Given the description of an element on the screen output the (x, y) to click on. 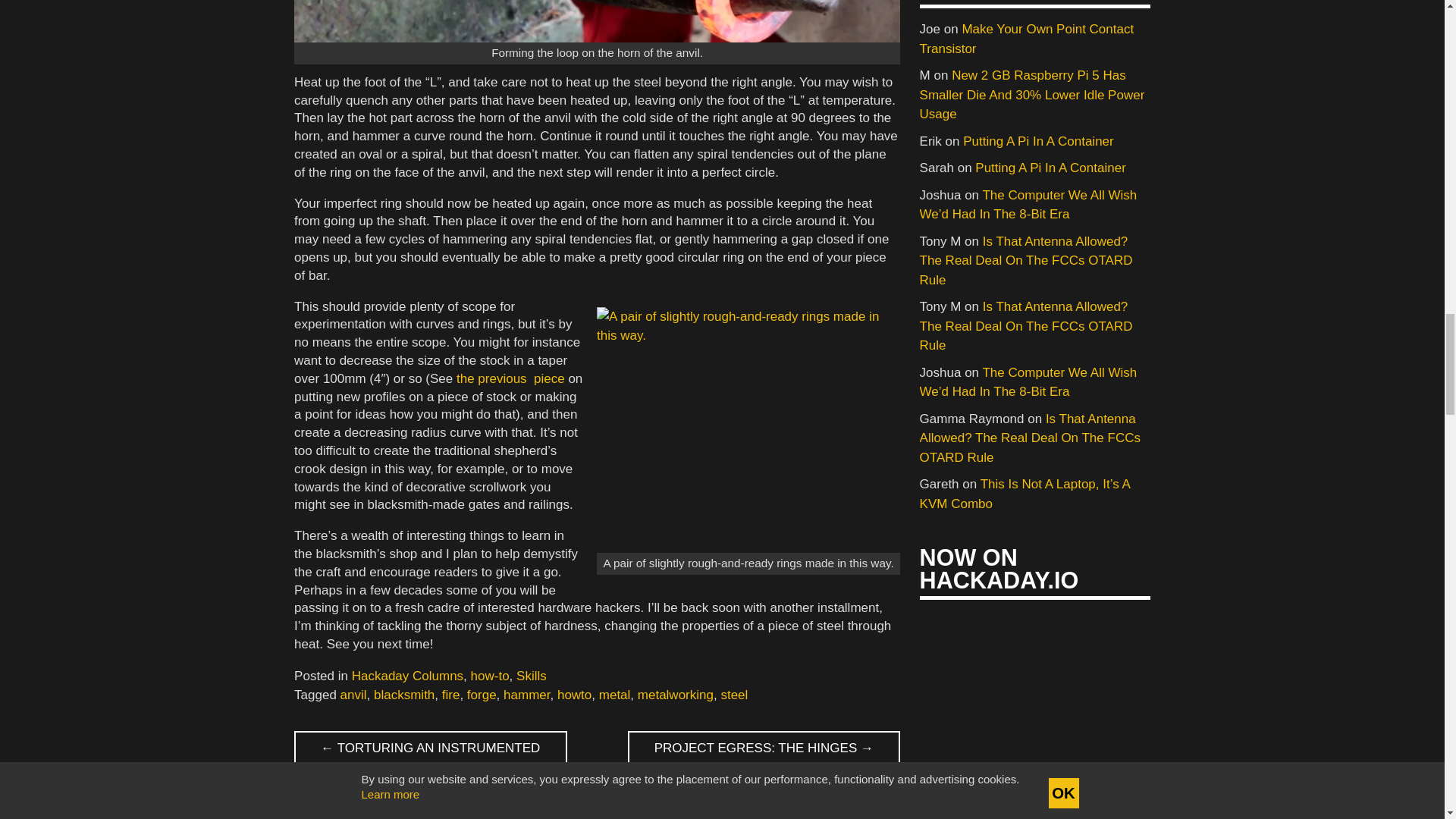
Skills (531, 676)
anvil (353, 694)
blacksmith (403, 694)
how-to (489, 676)
fire (451, 694)
Hackaday Columns (407, 676)
the previous  piece (510, 378)
